Given the description of an element on the screen output the (x, y) to click on. 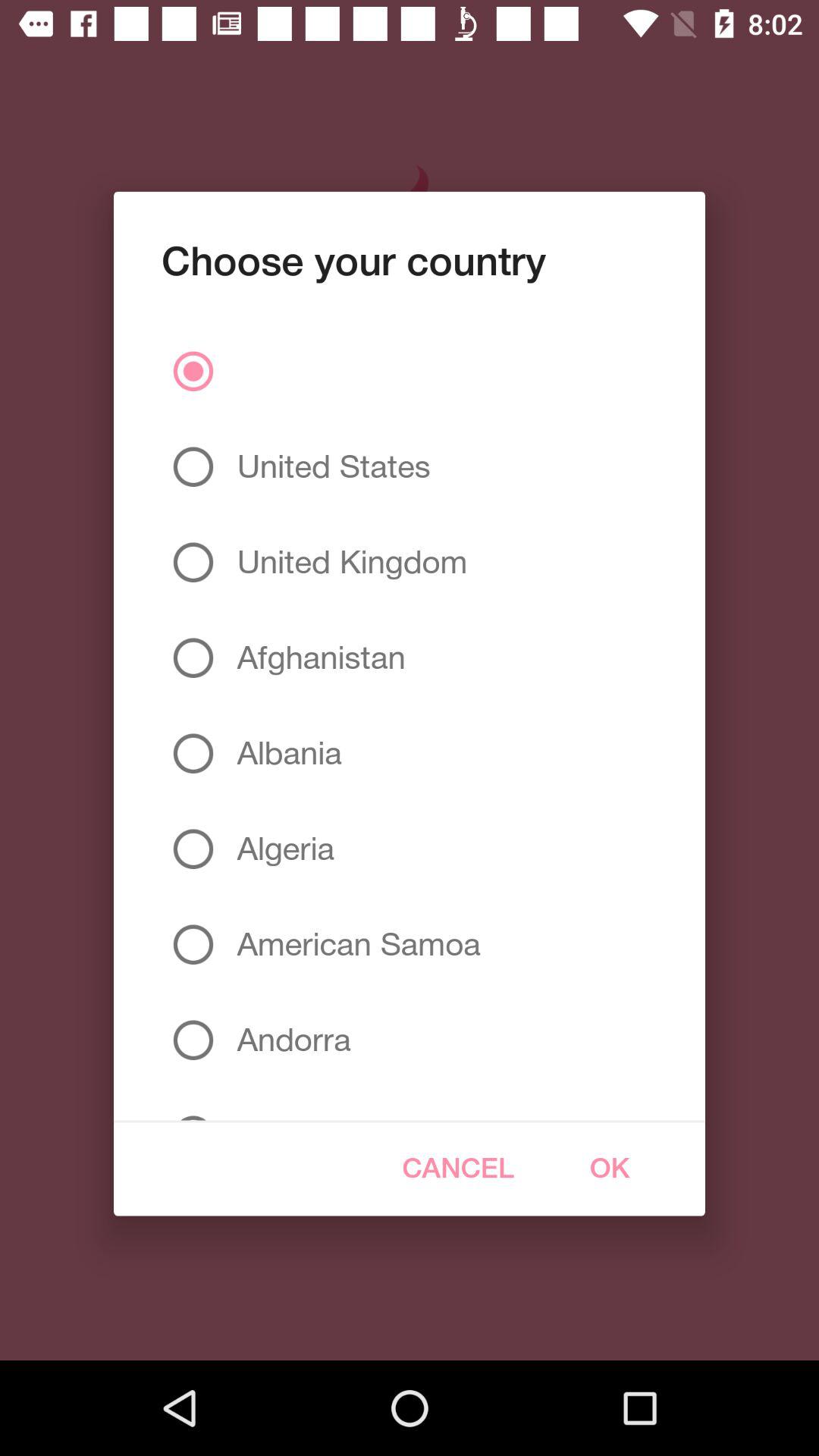
turn off the item next to ok (458, 1167)
